Given the description of an element on the screen output the (x, y) to click on. 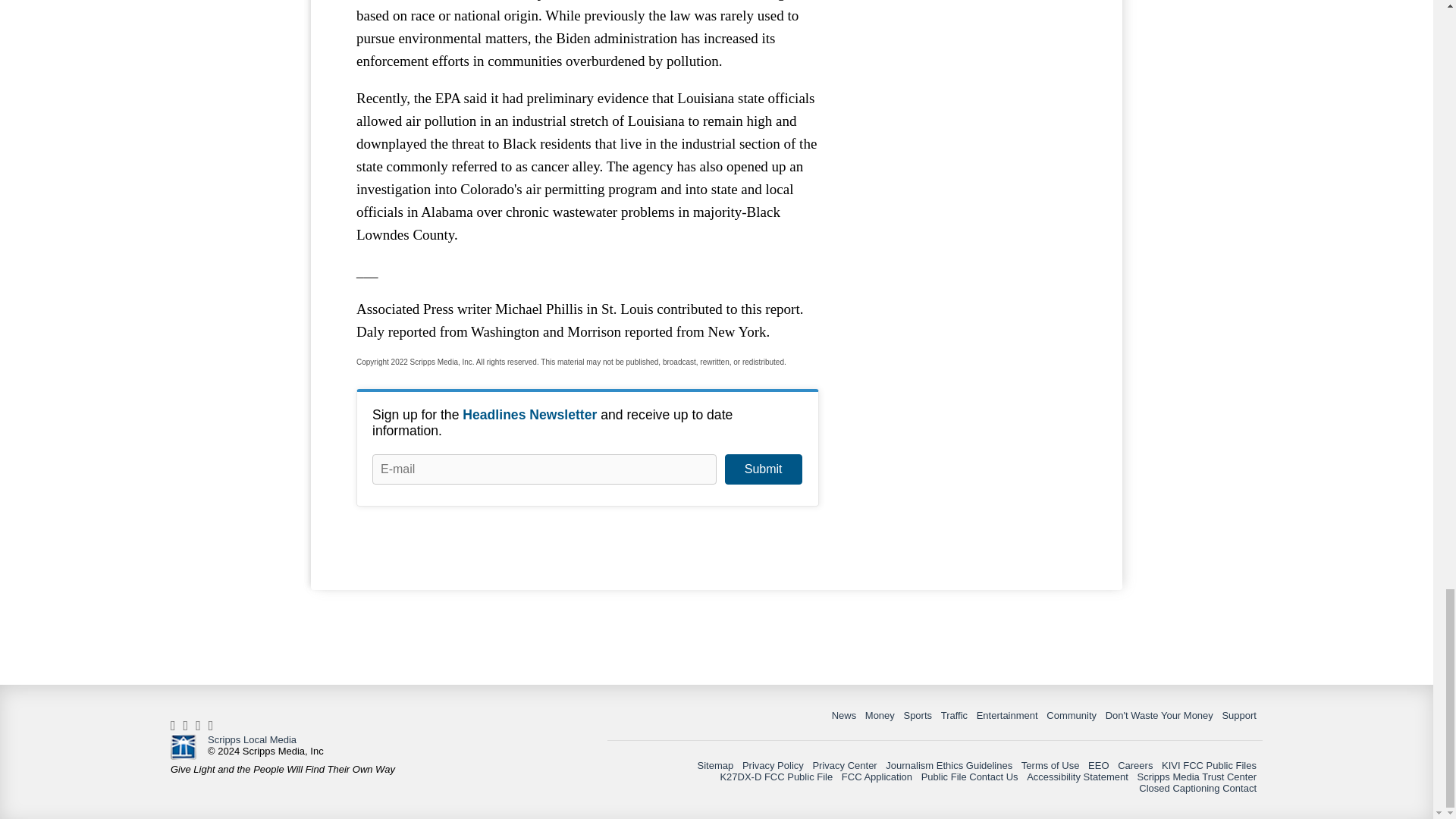
Submit (763, 469)
